Given the description of an element on the screen output the (x, y) to click on. 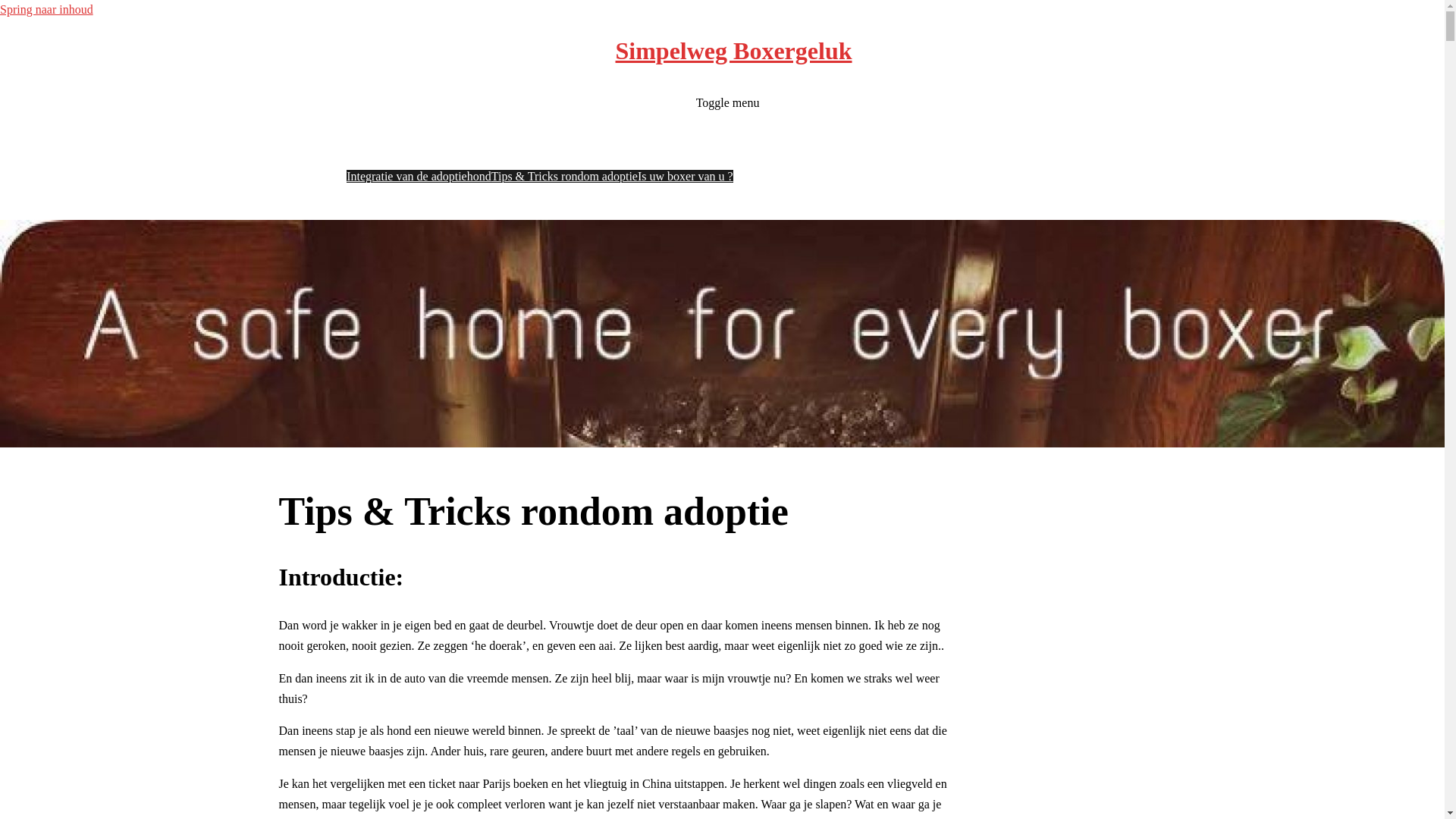
Onze diensten Element type: text (1053, 155)
Is uw boxer van u ? Element type: text (685, 175)
Privacy verklaring Element type: text (1136, 155)
Adopties The movies Element type: text (964, 155)
Word kandidaat adoptant Element type: text (802, 134)
Nazorg via Boxergeluk Element type: text (923, 134)
Home Element type: text (483, 134)
Tips rond adoptie Element type: text (524, 155)
Aanmelding boxer ter adoptie Element type: text (667, 134)
De boxer Element type: text (1004, 134)
Spring naar inhoud Element type: text (46, 9)
Integratie van de adoptiehond Element type: text (418, 175)
Adopties 2020 Element type: text (771, 155)
Contact Element type: text (809, 196)
Adopties 2016-2018 Element type: text (859, 155)
Boxers ter adoptie Element type: text (546, 134)
Simpelweg Boxergeluk Element type: text (733, 50)
Boxergeluk op facebook Element type: text (727, 196)
Tips & Tricks rondom adoptie Element type: text (564, 175)
